Given the description of an element on the screen output the (x, y) to click on. 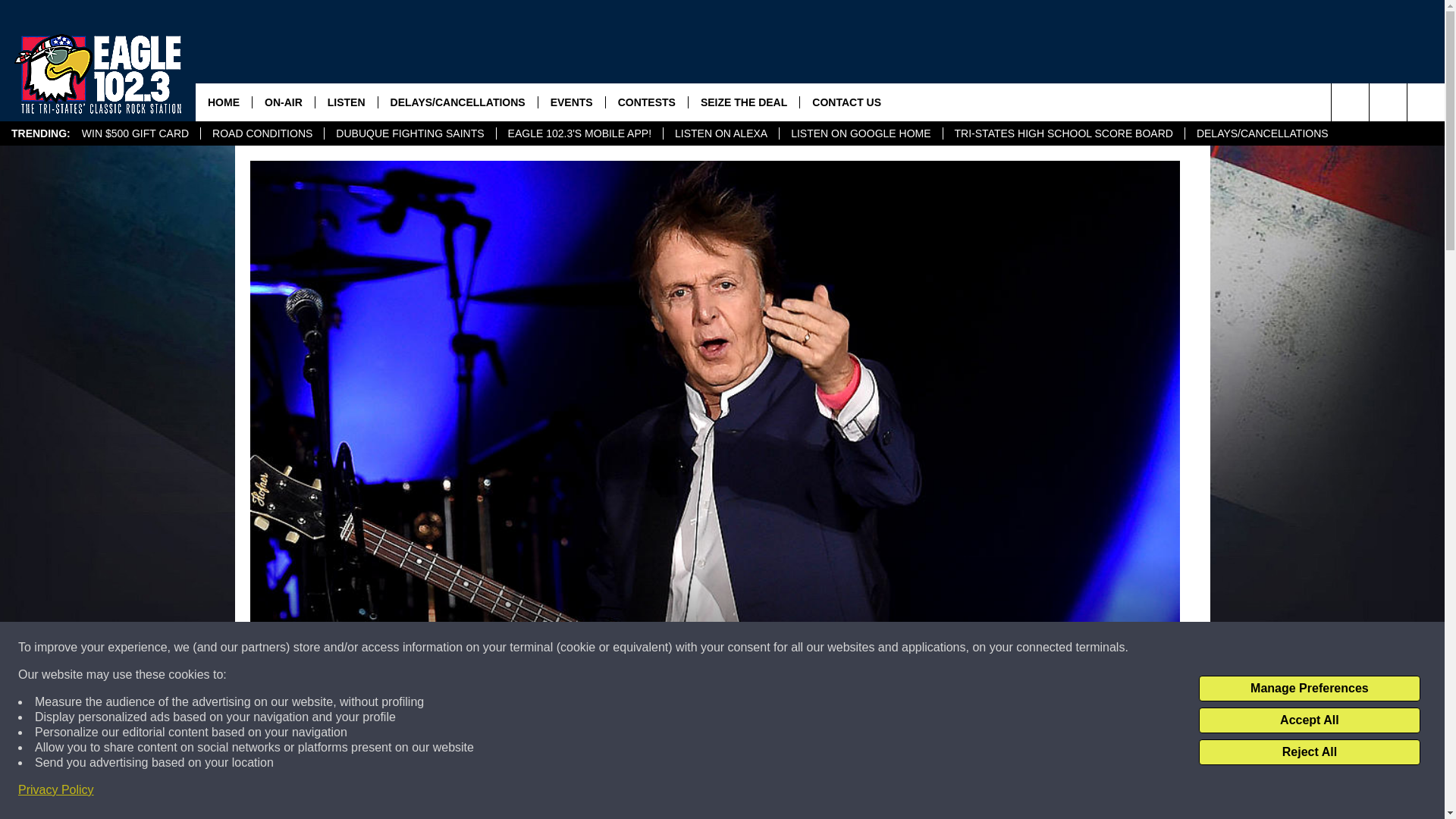
Privacy Policy (55, 789)
CONTACT US (846, 102)
ON-AIR (282, 102)
Reject All (1309, 751)
DUBUQUE FIGHTING SAINTS (409, 133)
EVENTS (571, 102)
CONTESTS (646, 102)
EAGLE 102.3'S MOBILE APP! (579, 133)
ROAD CONDITIONS (261, 133)
Manage Preferences (1309, 688)
HOME (223, 102)
Share on Twitter (912, 791)
LISTEN (345, 102)
TRI-STATES HIGH SCHOOL SCORE BOARD (1063, 133)
Share on Facebook (517, 791)
